Given the description of an element on the screen output the (x, y) to click on. 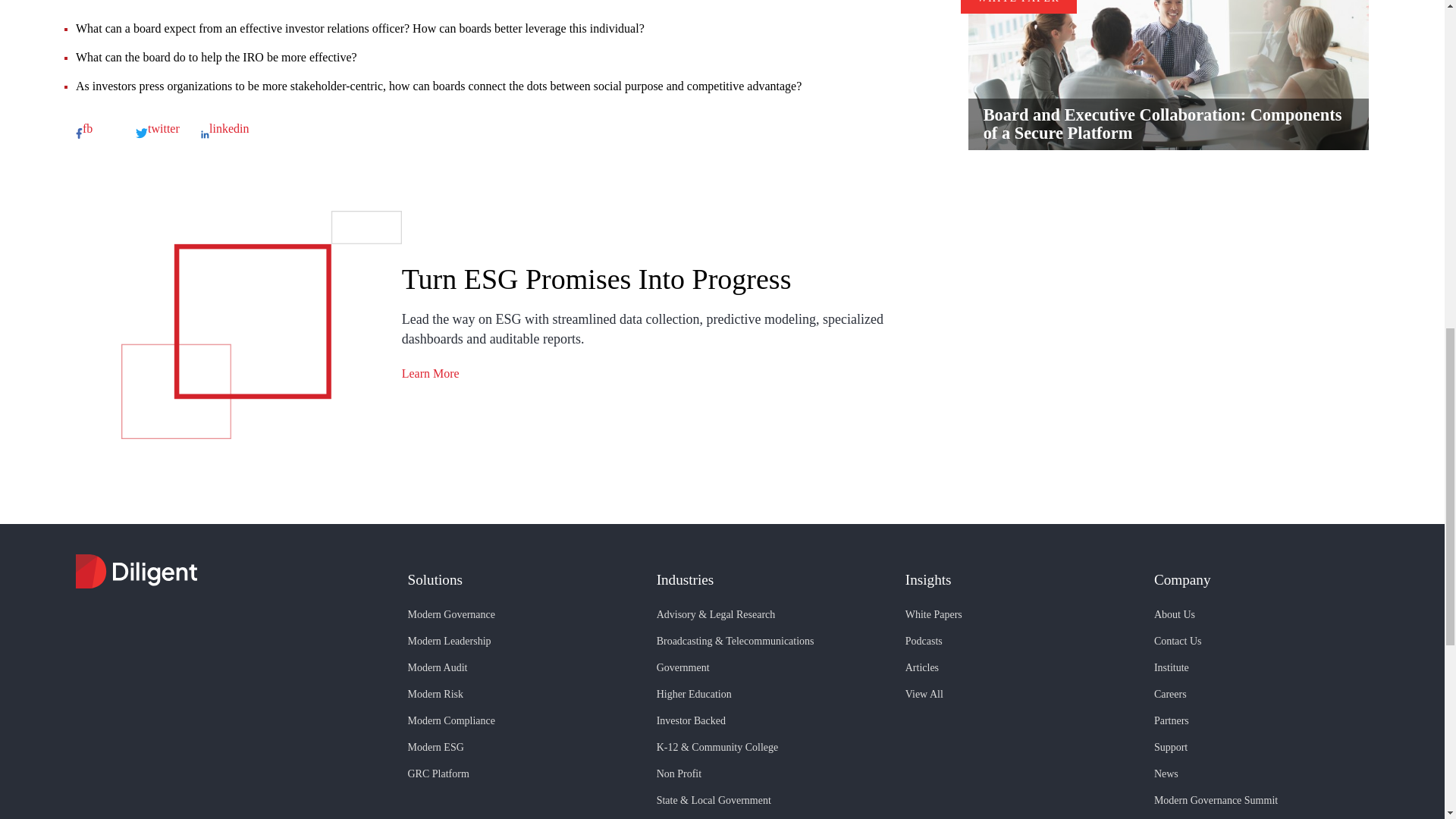
FooterLogo (230, 573)
